Given the description of an element on the screen output the (x, y) to click on. 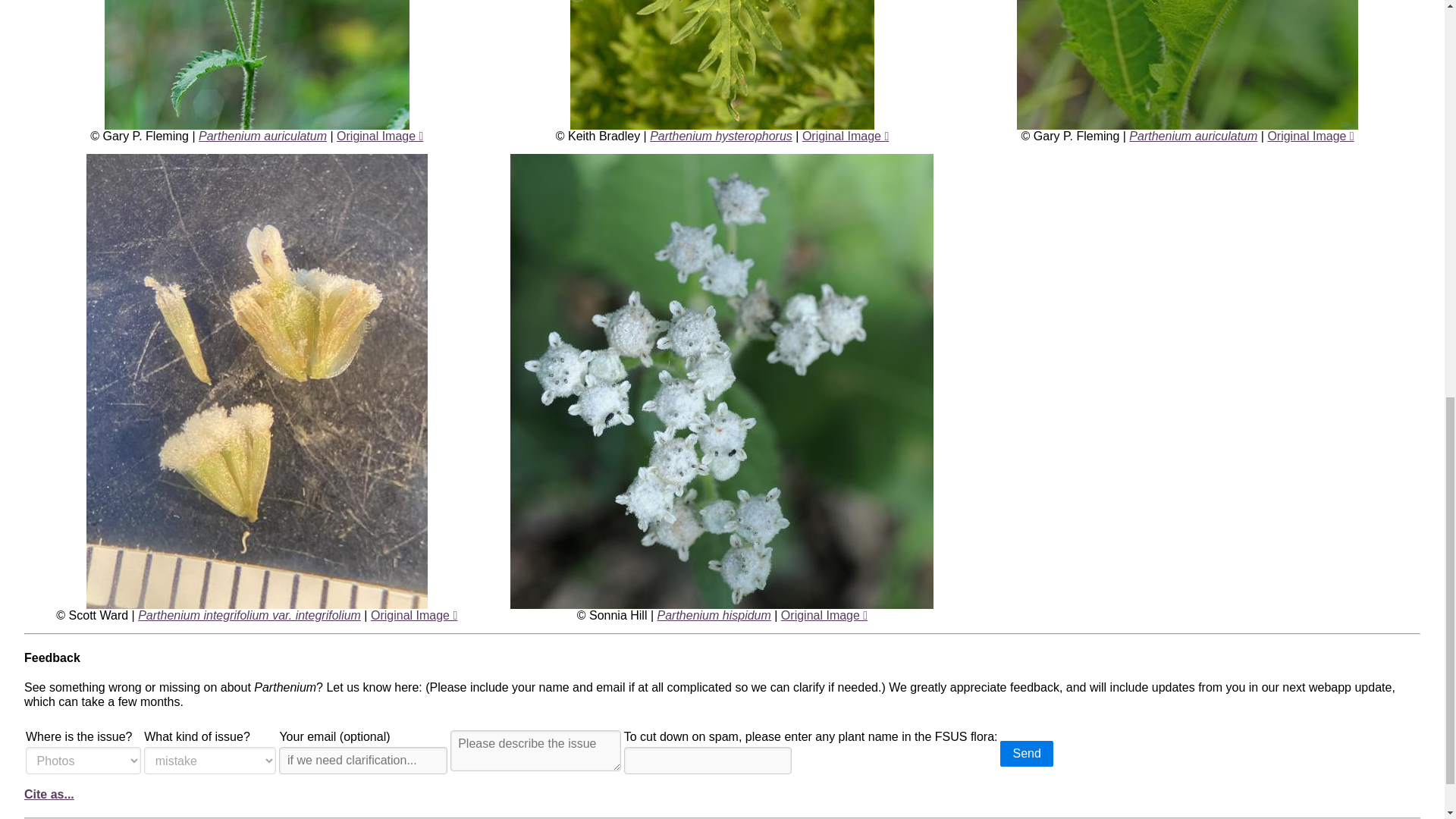
Send (1026, 753)
View original high-resolution image in a new tab (1310, 135)
Parthenium hispidum (714, 615)
View original high-resolution image in a new tab (414, 615)
Cite as... (49, 793)
Parthenium auriculatum (262, 135)
Parthenium hysterophorus (720, 135)
View original high-resolution image in a new tab (379, 135)
View original high-resolution image in a new tab (845, 135)
View original high-resolution image in a new tab (823, 615)
